Given the description of an element on the screen output the (x, y) to click on. 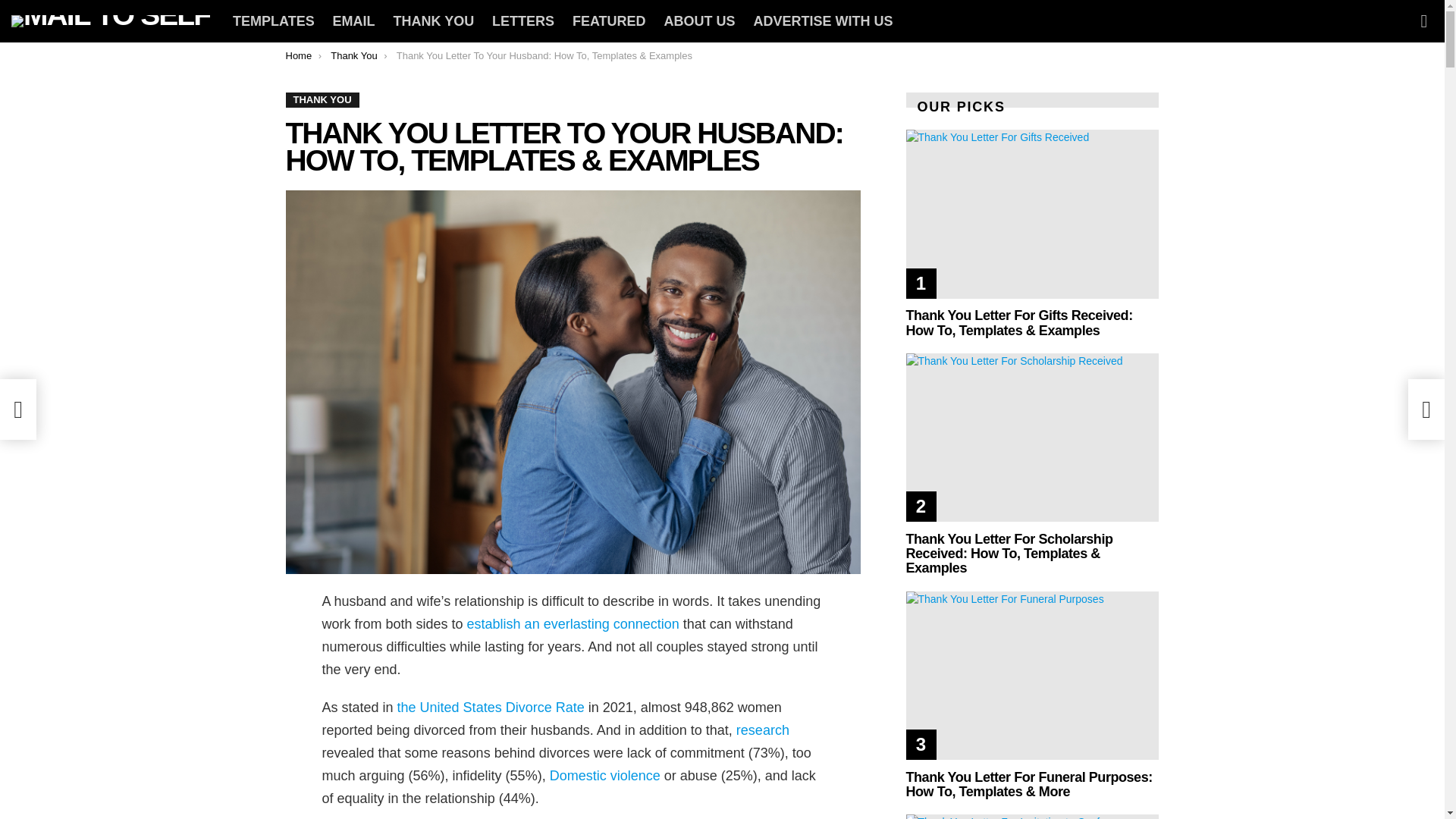
ADVERTISE WITH US (822, 20)
THANK YOU (433, 20)
ABOUT US (699, 20)
Thank You (353, 55)
EMAIL (353, 20)
LETTERS (523, 20)
Home (298, 55)
FEATURED (608, 20)
THANK YOU (321, 99)
Domestic violence (605, 775)
